Given the description of an element on the screen output the (x, y) to click on. 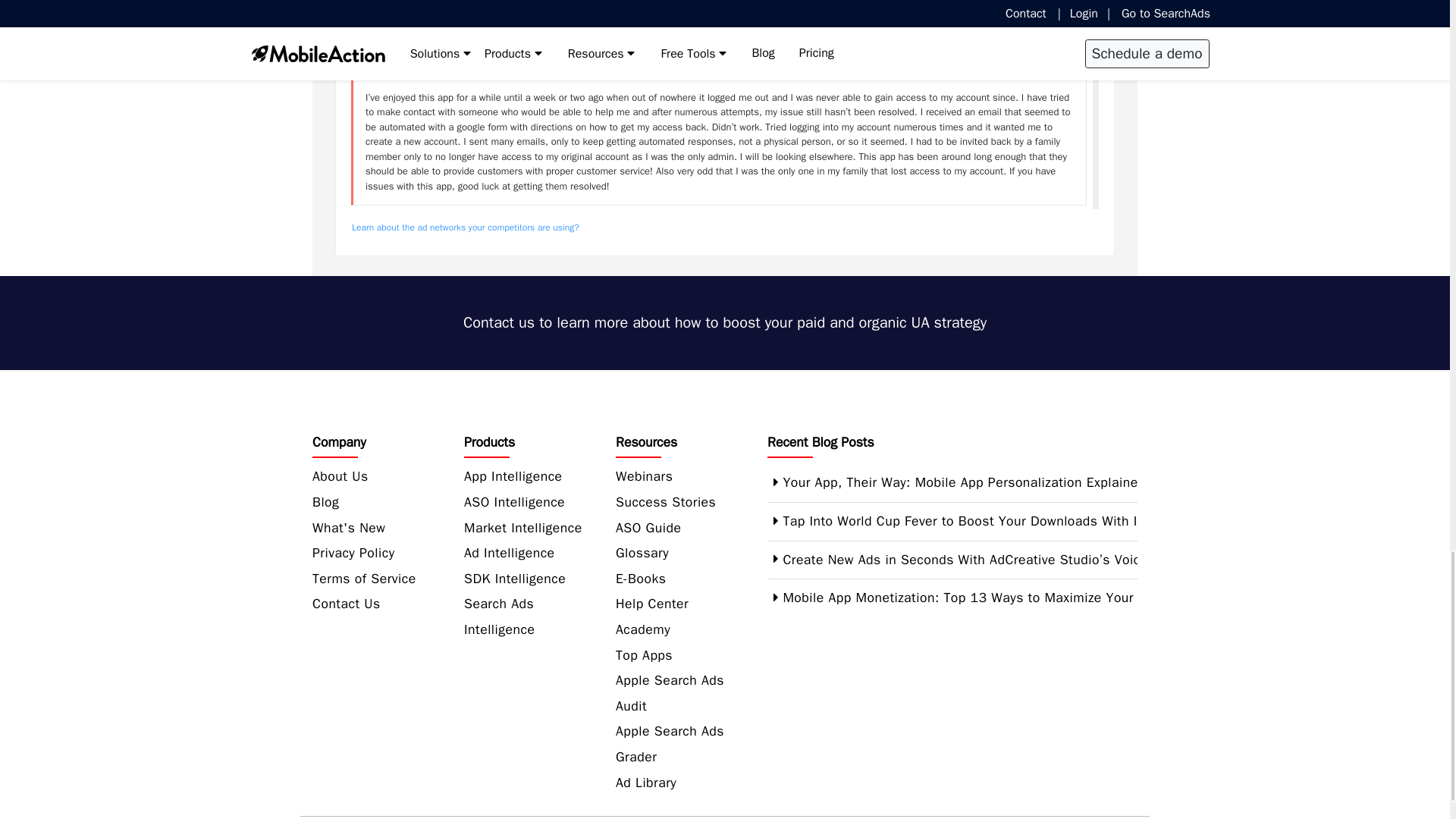
Schedule Demo (724, 322)
